Given the description of an element on the screen output the (x, y) to click on. 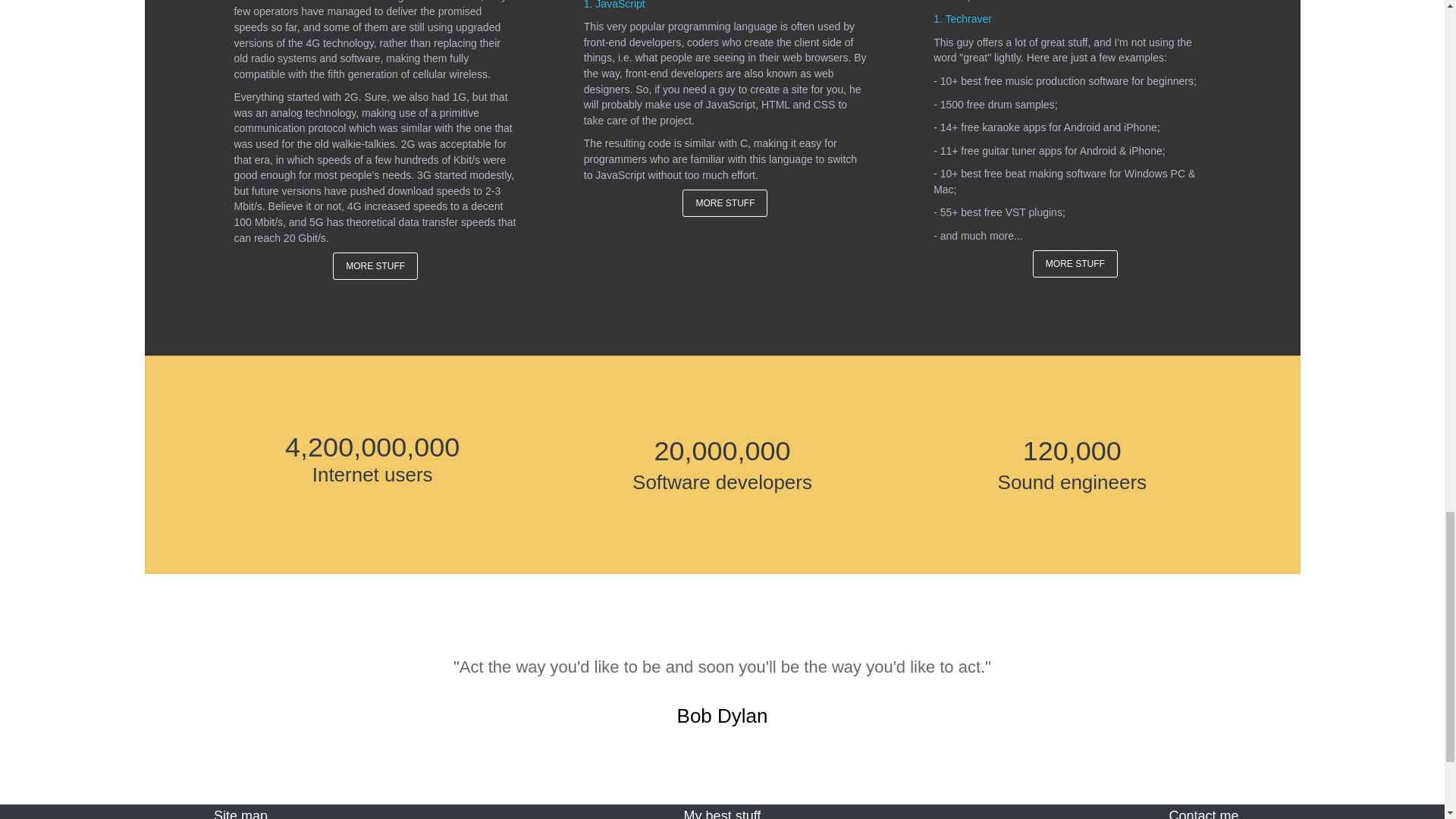
Data Alliance (449, 0)
MORE STUFF (724, 203)
MORE STUFF (1075, 263)
1. JavaScript (614, 4)
MORE STUFF (375, 266)
1. Techraver (962, 18)
